Given the description of an element on the screen output the (x, y) to click on. 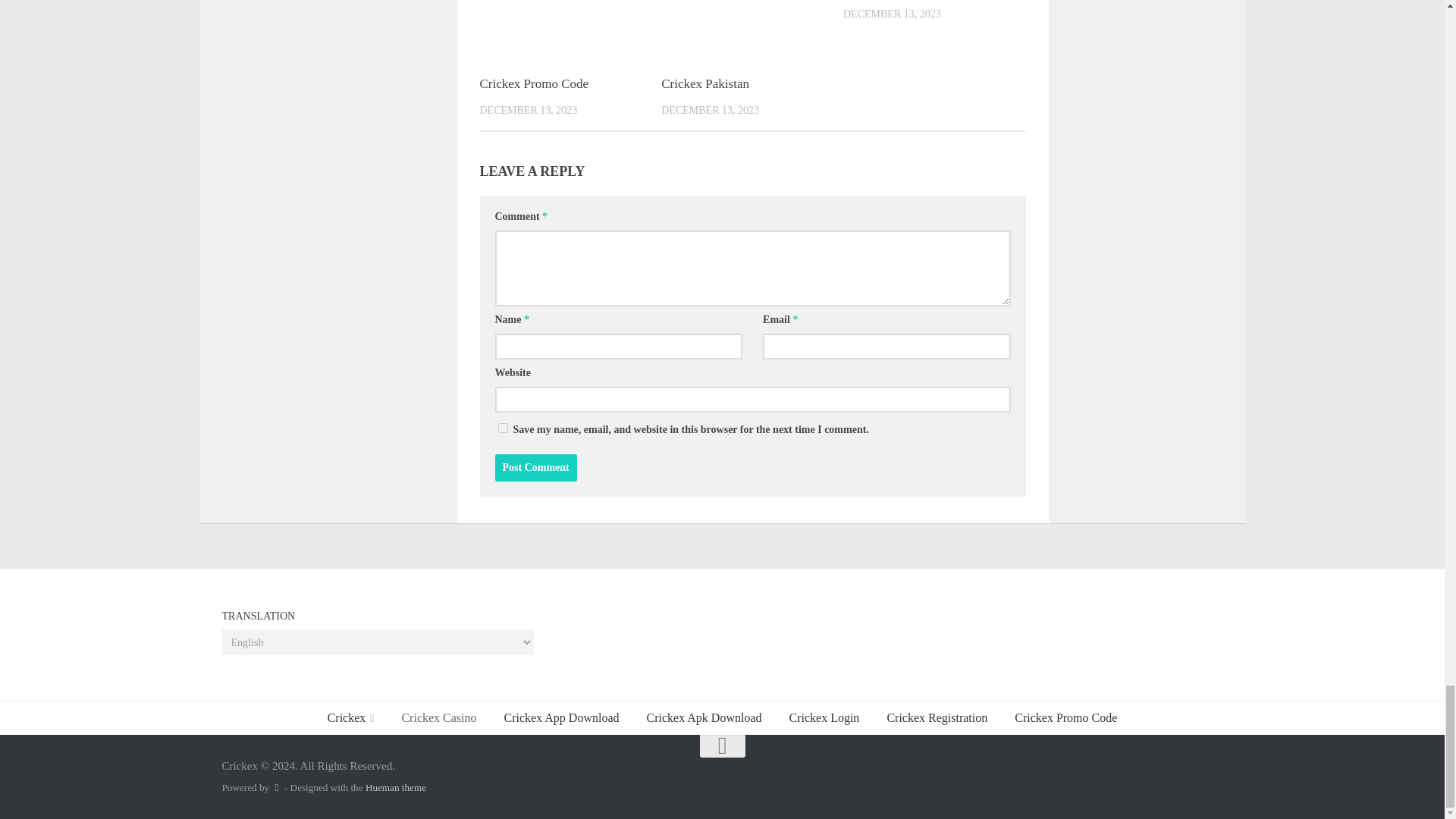
Hueman theme (395, 787)
Post Comment (535, 467)
Crickex Promo Code (533, 83)
Powered by WordPress (275, 787)
Crickex Pakistan (705, 83)
yes (501, 428)
